Given the description of an element on the screen output the (x, y) to click on. 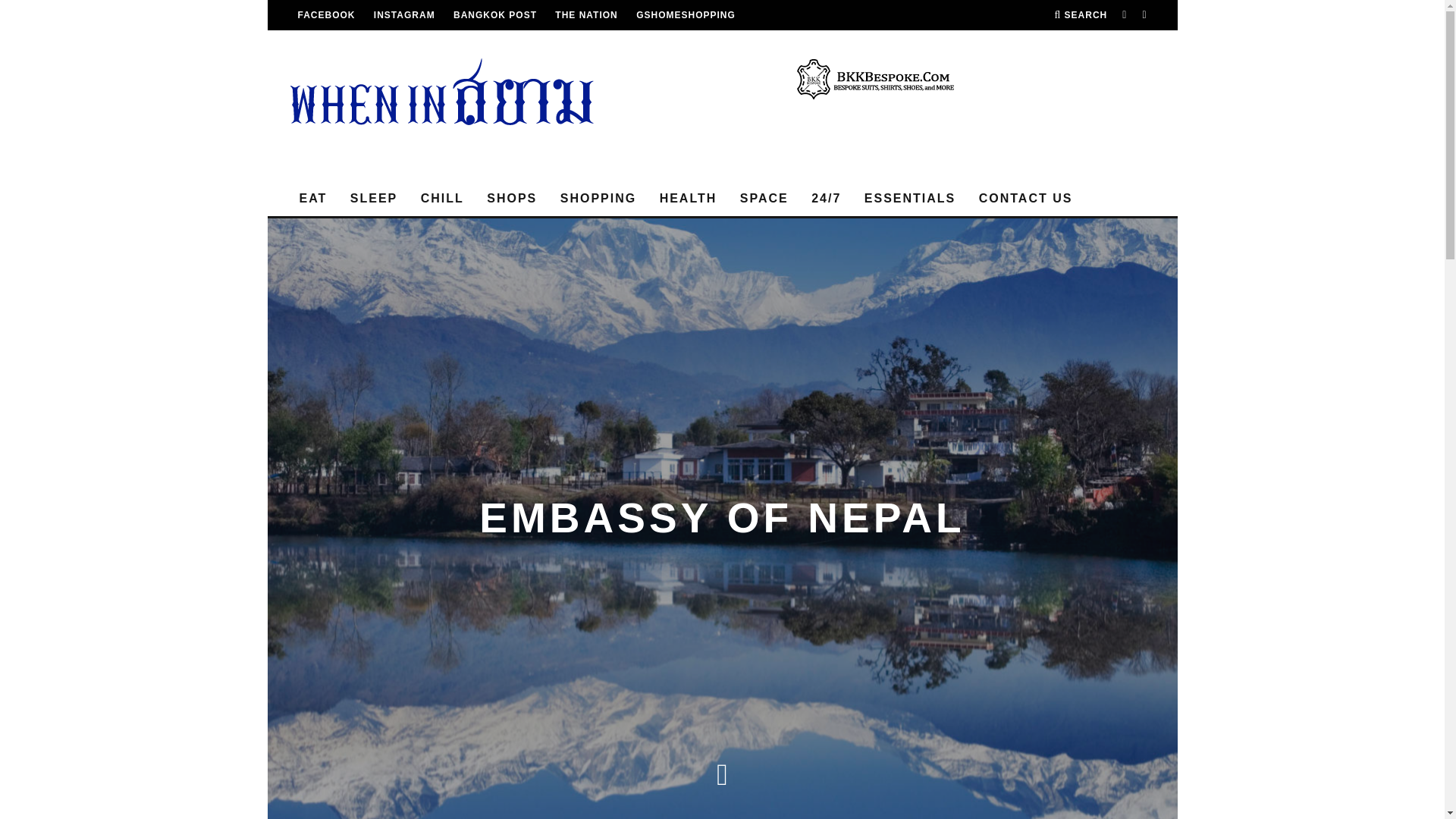
GSHOMESHOPPING (685, 15)
INSTAGRAM (404, 15)
SEARCH (1080, 15)
When In Siam (404, 15)
BANGKOK POST (494, 15)
When In Siam (326, 15)
Search (1080, 15)
FACEBOOK (326, 15)
THE NATION (585, 15)
